Given the description of an element on the screen output the (x, y) to click on. 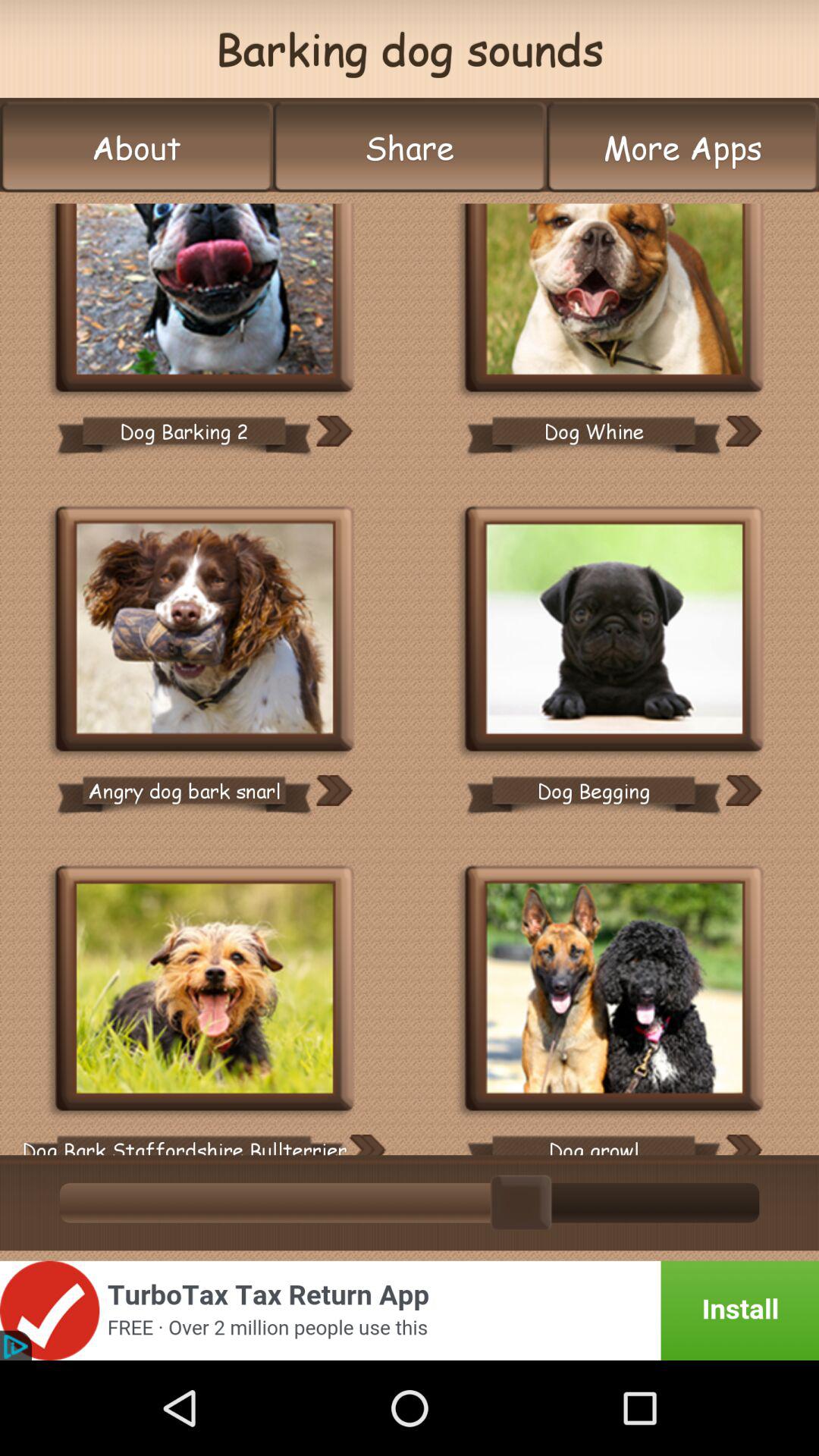
launch the icon next to about (409, 147)
